Given the description of an element on the screen output the (x, y) to click on. 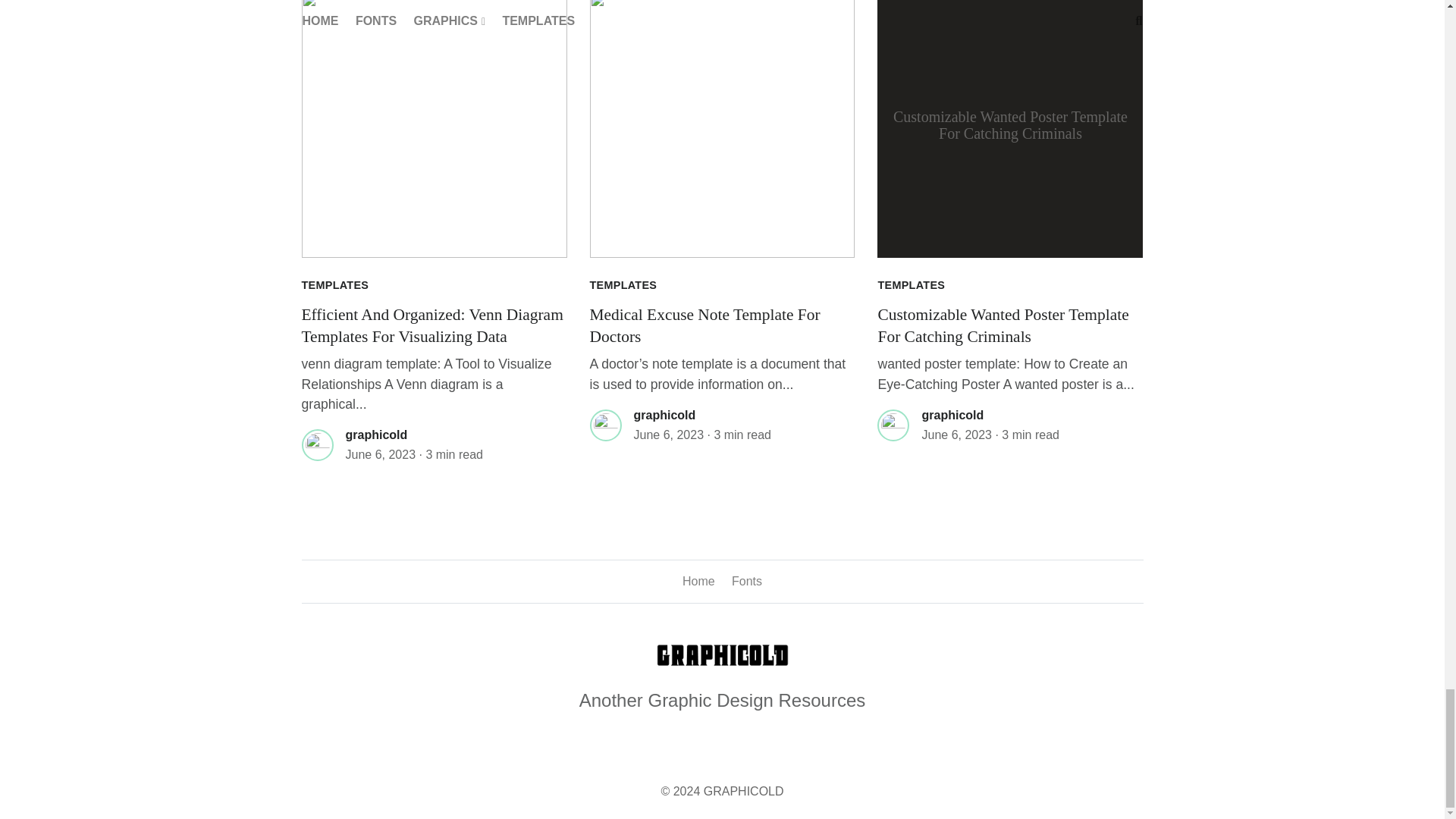
Posts by graphicold (664, 414)
Posts by graphicold (376, 434)
Posts by graphicold (952, 414)
